Given the description of an element on the screen output the (x, y) to click on. 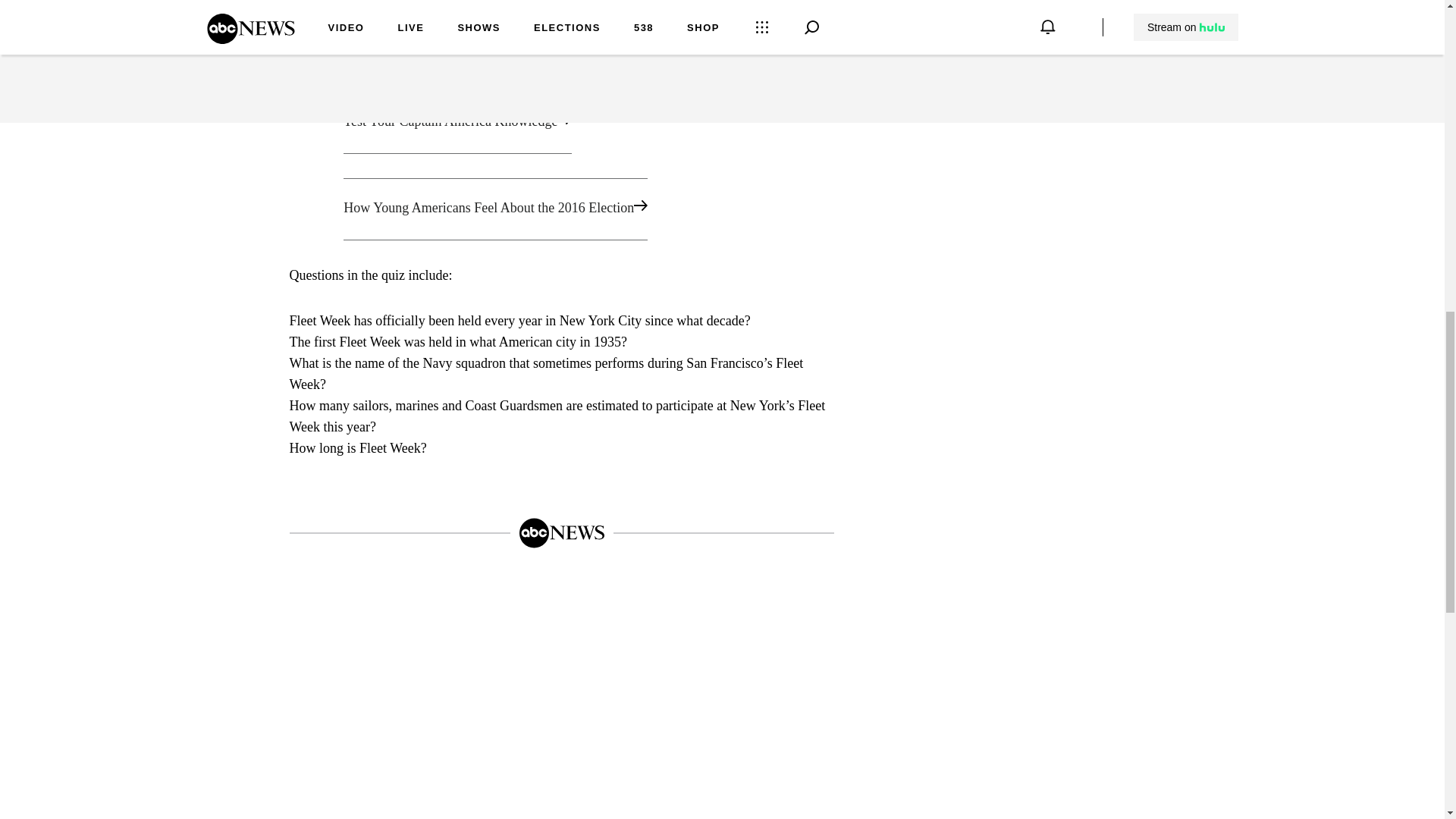
How Young Americans Feel About the 2016 Election (560, 209)
Taste Test 16 Dishes at New York's Hottest Food Market (560, 35)
Test Your Captain America Knowledge (560, 122)
